Given the description of an element on the screen output the (x, y) to click on. 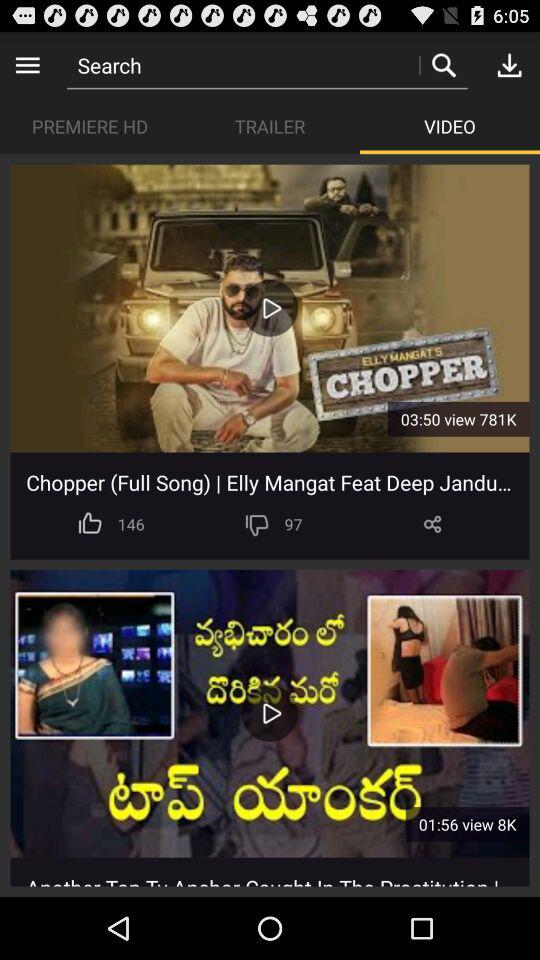
turn off app next to the 97 (256, 523)
